Given the description of an element on the screen output the (x, y) to click on. 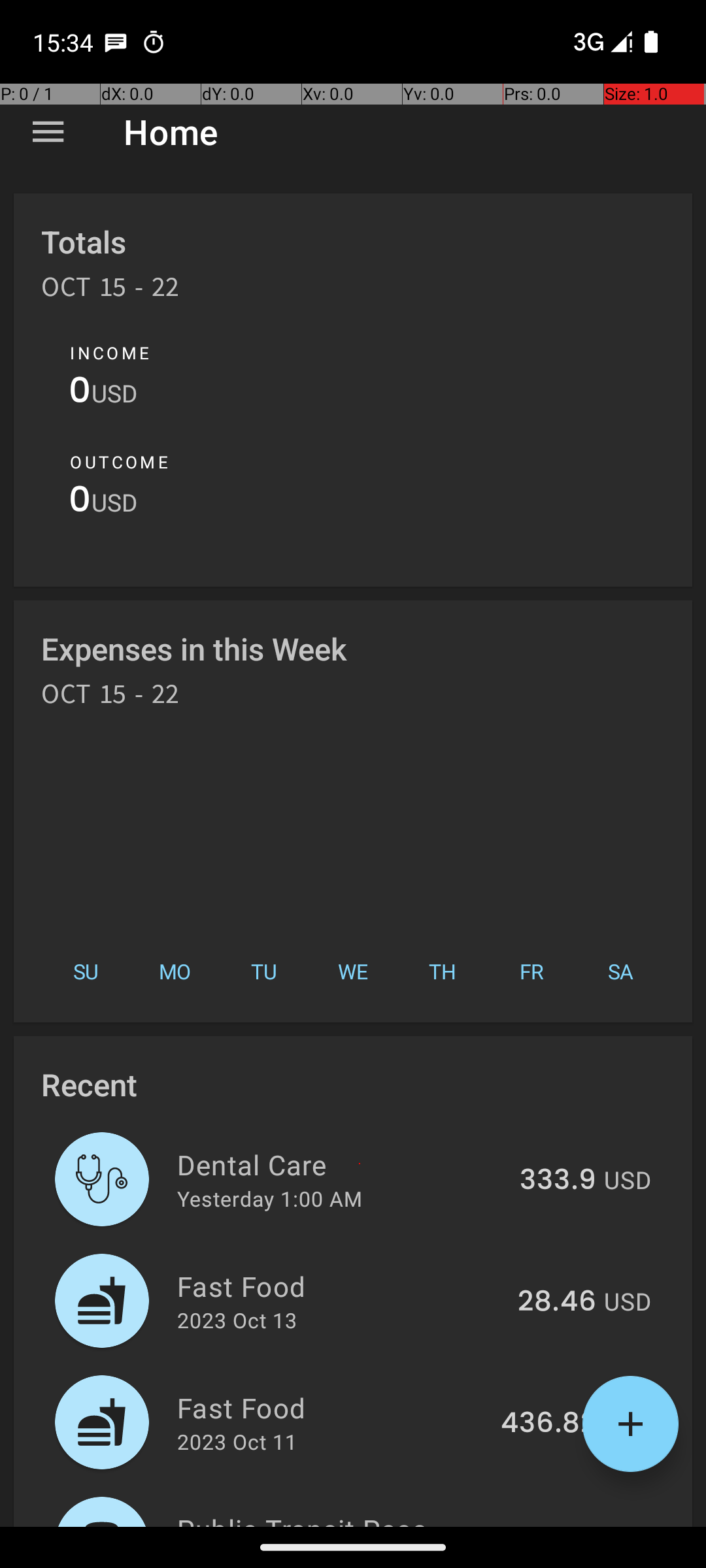
Yesterday 1:00 AM Element type: android.widget.TextView (269, 1198)
333.9 Element type: android.widget.TextView (557, 1180)
Fast Food Element type: android.widget.TextView (339, 1285)
28.46 Element type: android.widget.TextView (556, 1301)
436.82 Element type: android.widget.TextView (548, 1423)
Public Transit Pass Element type: android.widget.TextView (339, 1518)
44.24 Element type: android.widget.TextView (556, 1524)
